Given the description of an element on the screen output the (x, y) to click on. 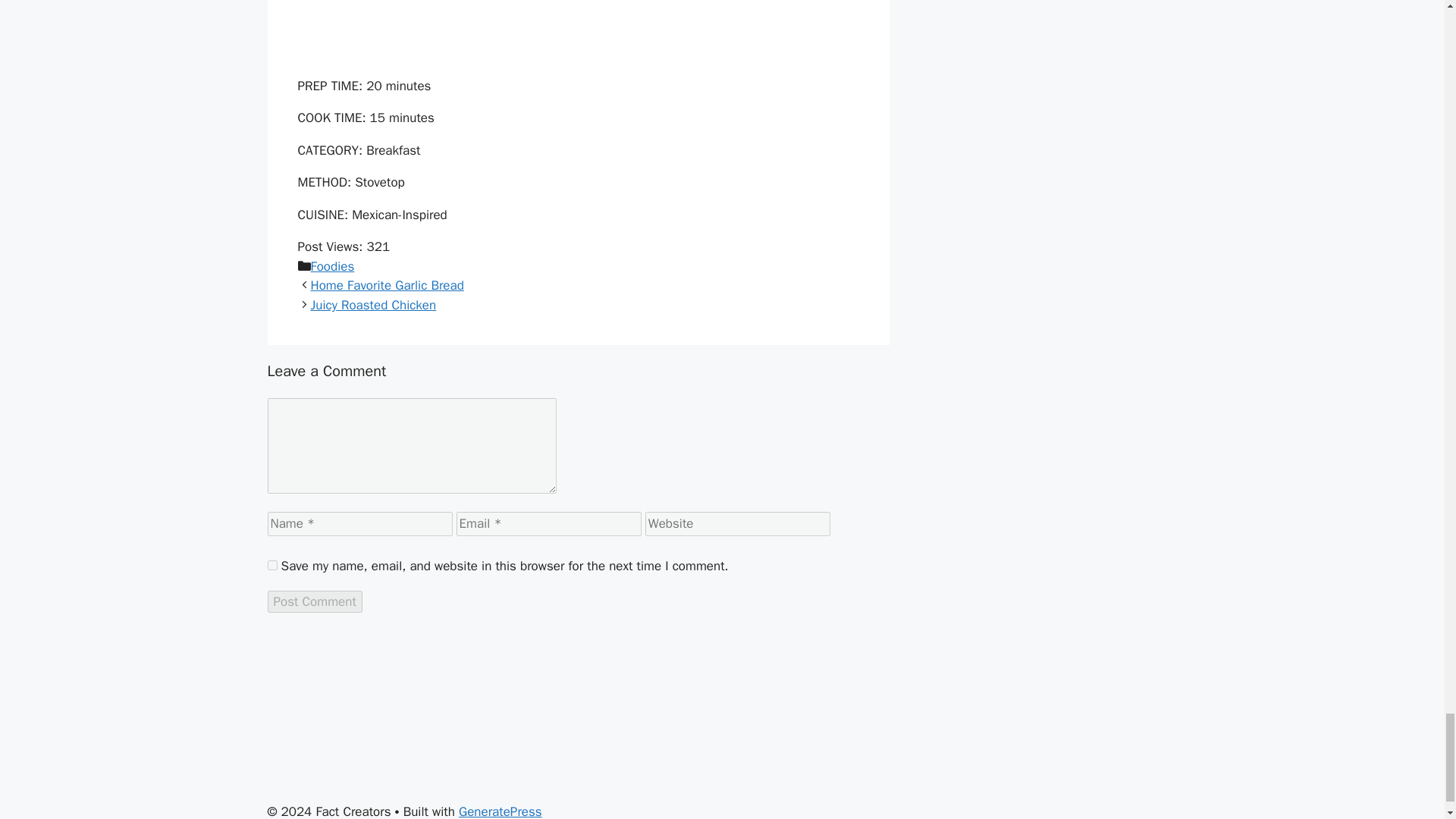
Post Comment (313, 601)
yes (271, 565)
Juicy Roasted Chicken (373, 304)
Foodies (333, 266)
Post Comment (313, 601)
Home Favorite Garlic Bread (387, 285)
